Given the description of an element on the screen output the (x, y) to click on. 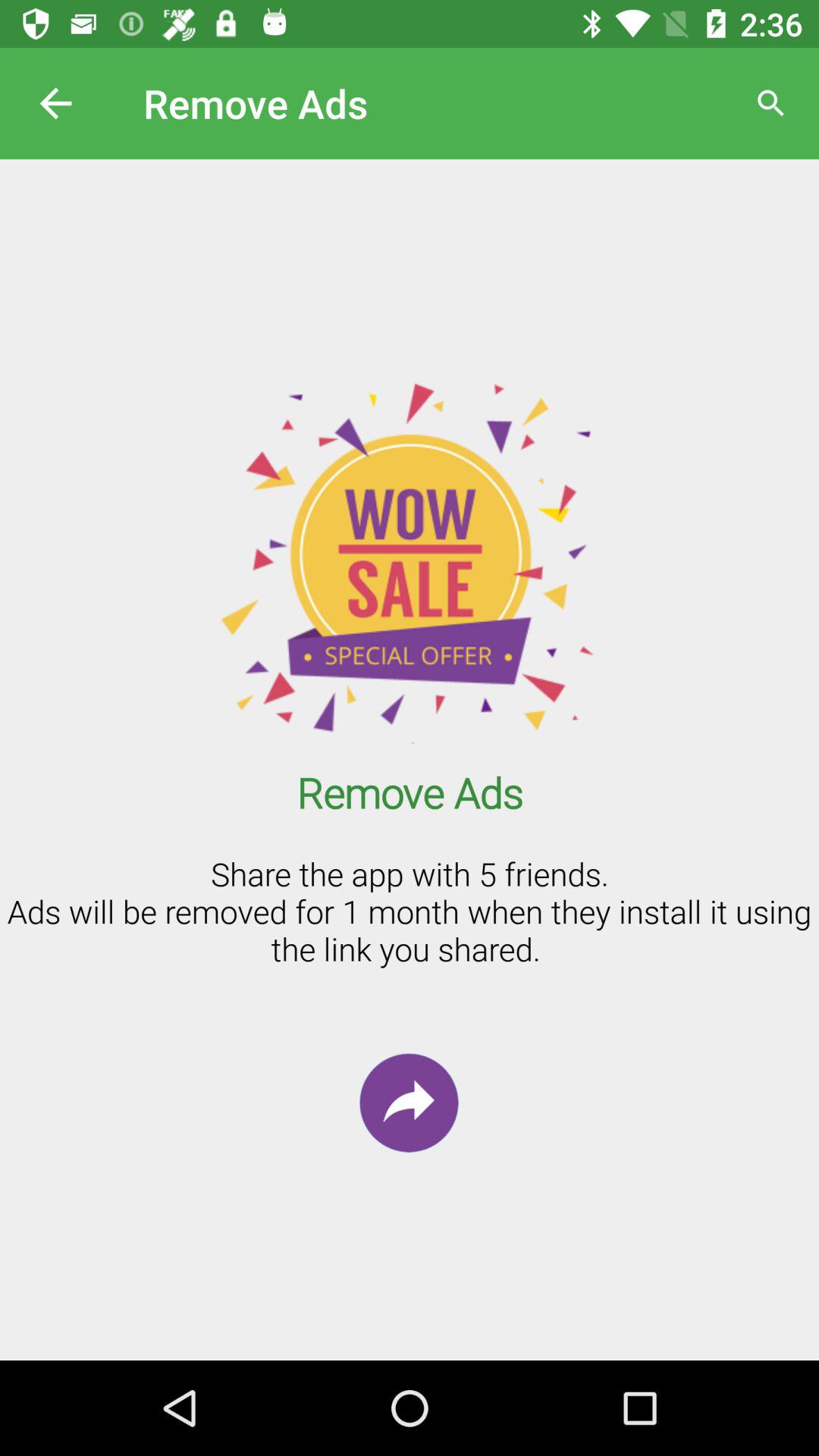
click on the search button at the top right side corner of the page (771, 103)
click on the purple button (408, 1102)
